Given the description of an element on the screen output the (x, y) to click on. 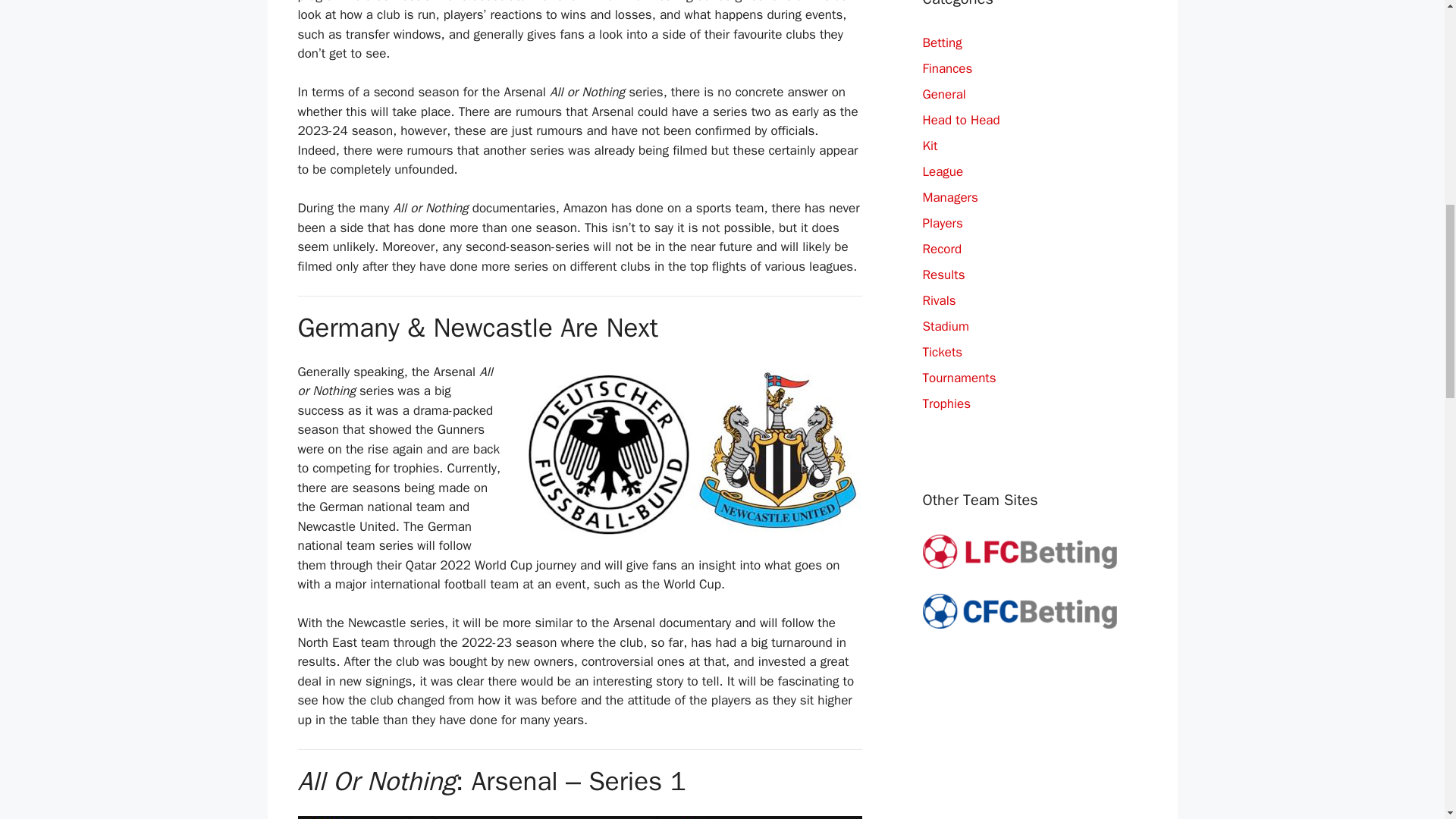
Players (941, 222)
General (943, 94)
Record (940, 248)
Finances (946, 68)
Managers (948, 197)
Kit (929, 145)
Rivals (938, 300)
Results (942, 274)
Betting (940, 42)
League (941, 171)
